Given the description of an element on the screen output the (x, y) to click on. 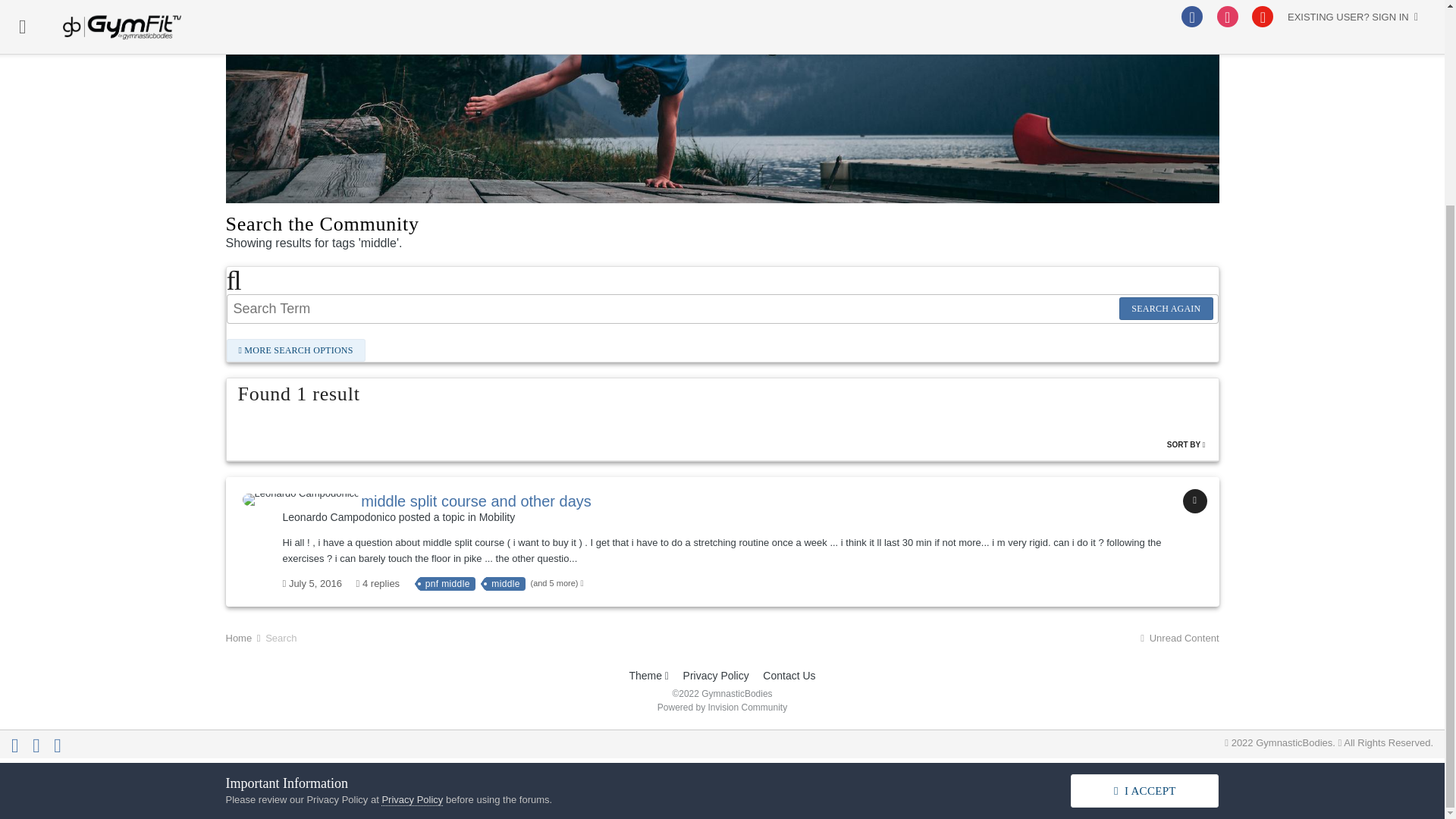
Find other content tagged with 'middle' (505, 583)
Find other content tagged with 'pnf middle' (448, 583)
Invision Community (722, 706)
Home (244, 637)
Topic (1194, 500)
